Given the description of an element on the screen output the (x, y) to click on. 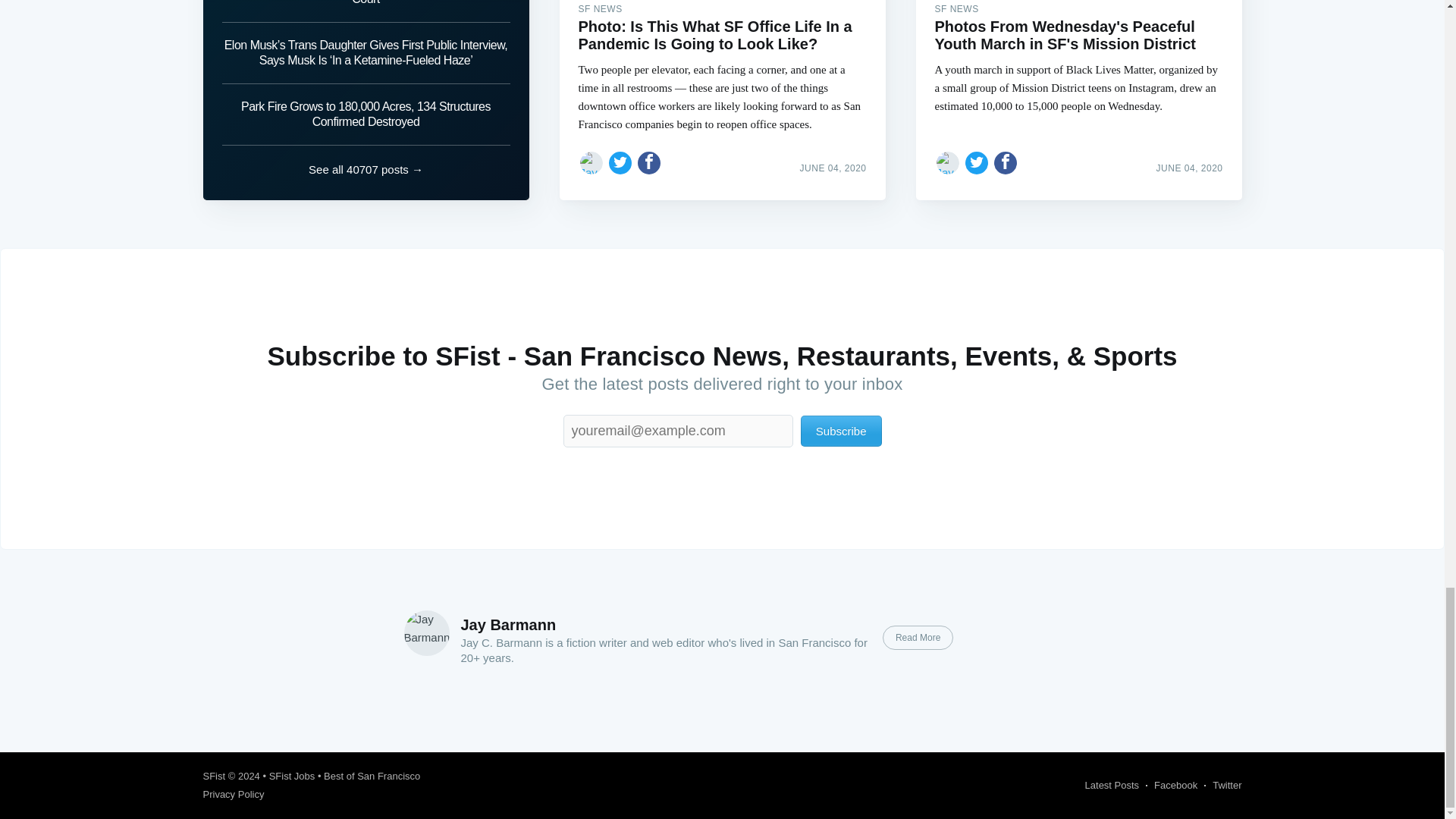
Share on Facebook (1004, 162)
Share on Twitter (620, 162)
Jay Barmann (508, 624)
Day Around the Bay: Waymo Hauling Car Vandals Into Court (365, 11)
Subscribe (841, 430)
Share on Twitter (976, 162)
Share on Facebook (649, 162)
